Given the description of an element on the screen output the (x, y) to click on. 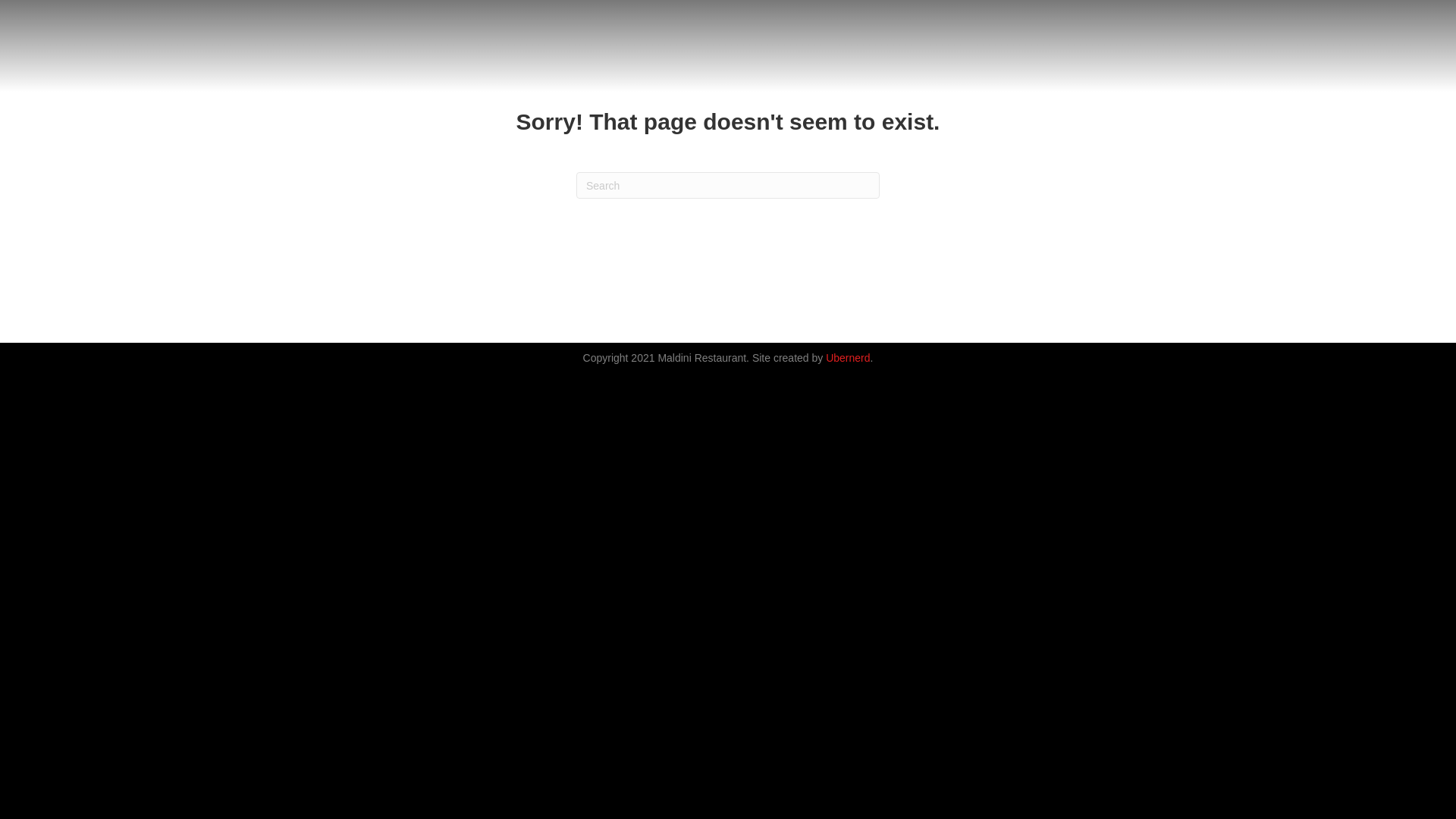
. Element type: text (871, 357)
Type and press Enter to search. Element type: hover (727, 185)
Ubernerd Element type: text (847, 357)
